Given the description of an element on the screen output the (x, y) to click on. 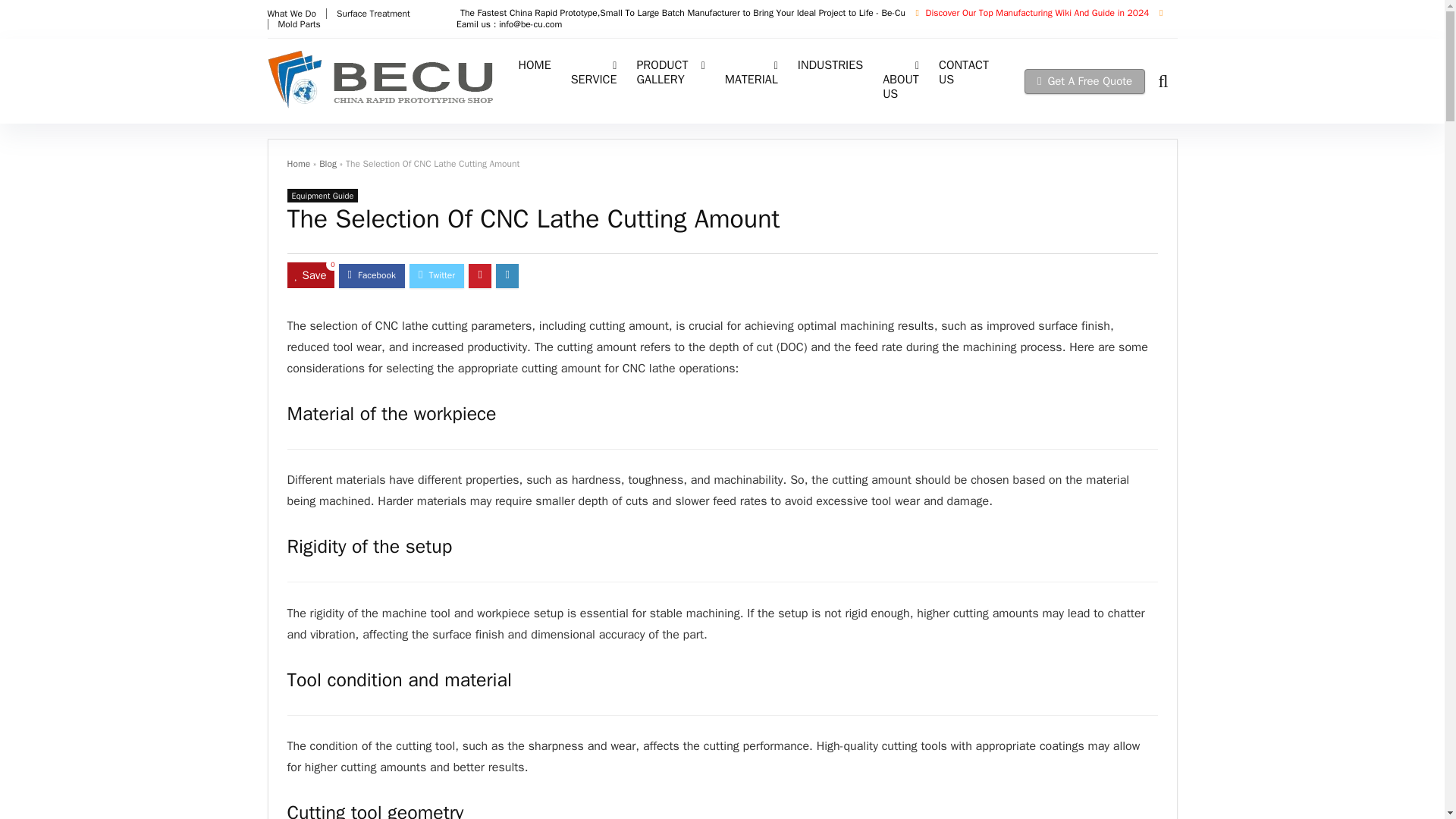
Mold Parts (299, 24)
HOME (534, 66)
SERVICE (593, 73)
Discover Our Top Manufacturing Wiki And Guide in 2024 (1038, 12)
PRODUCT GALLERY (670, 73)
Surface Treatment (373, 13)
What We Do (290, 13)
